Given the description of an element on the screen output the (x, y) to click on. 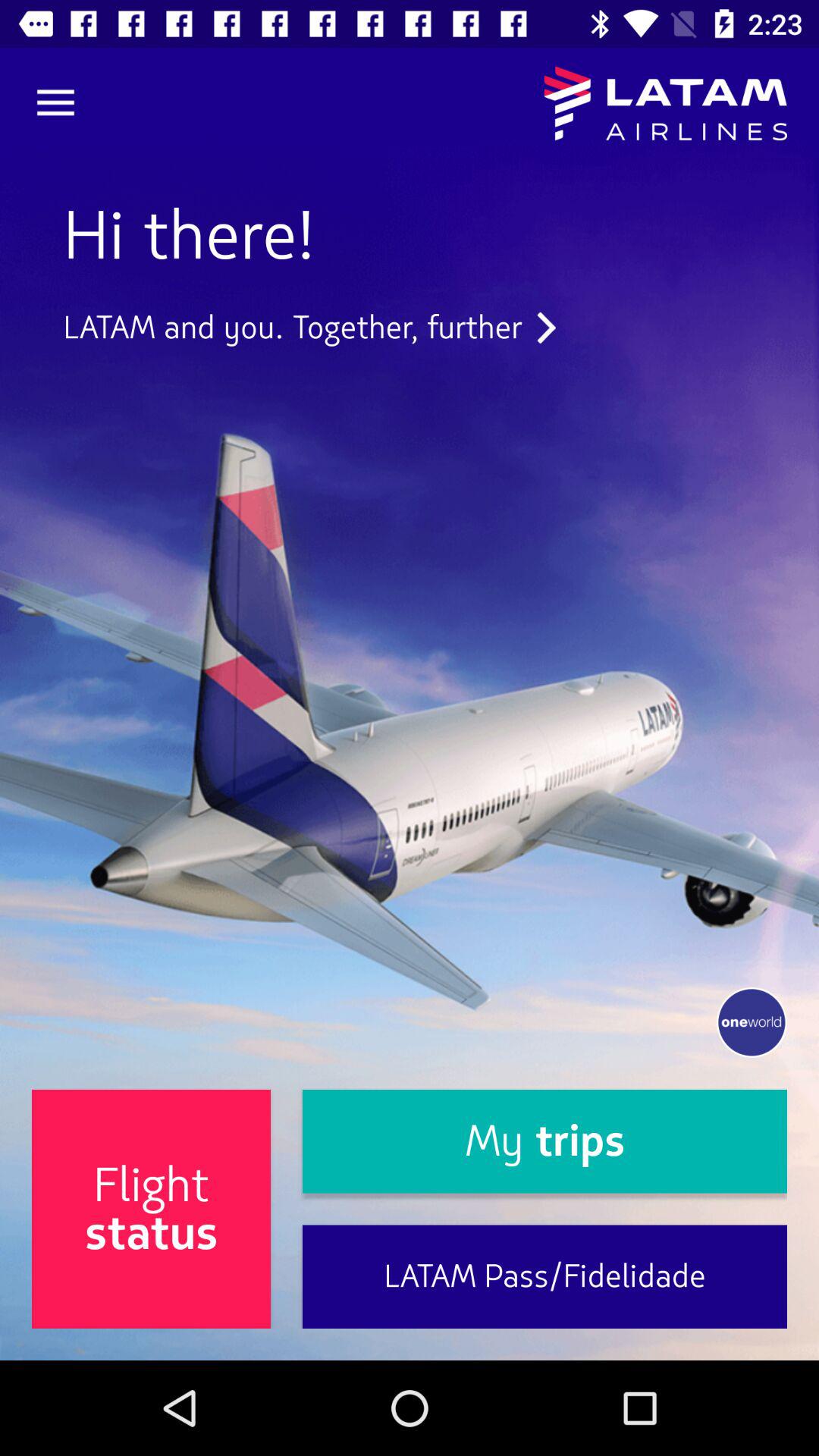
turn on icon above latam pass/fidelidade icon (544, 1141)
